Given the description of an element on the screen output the (x, y) to click on. 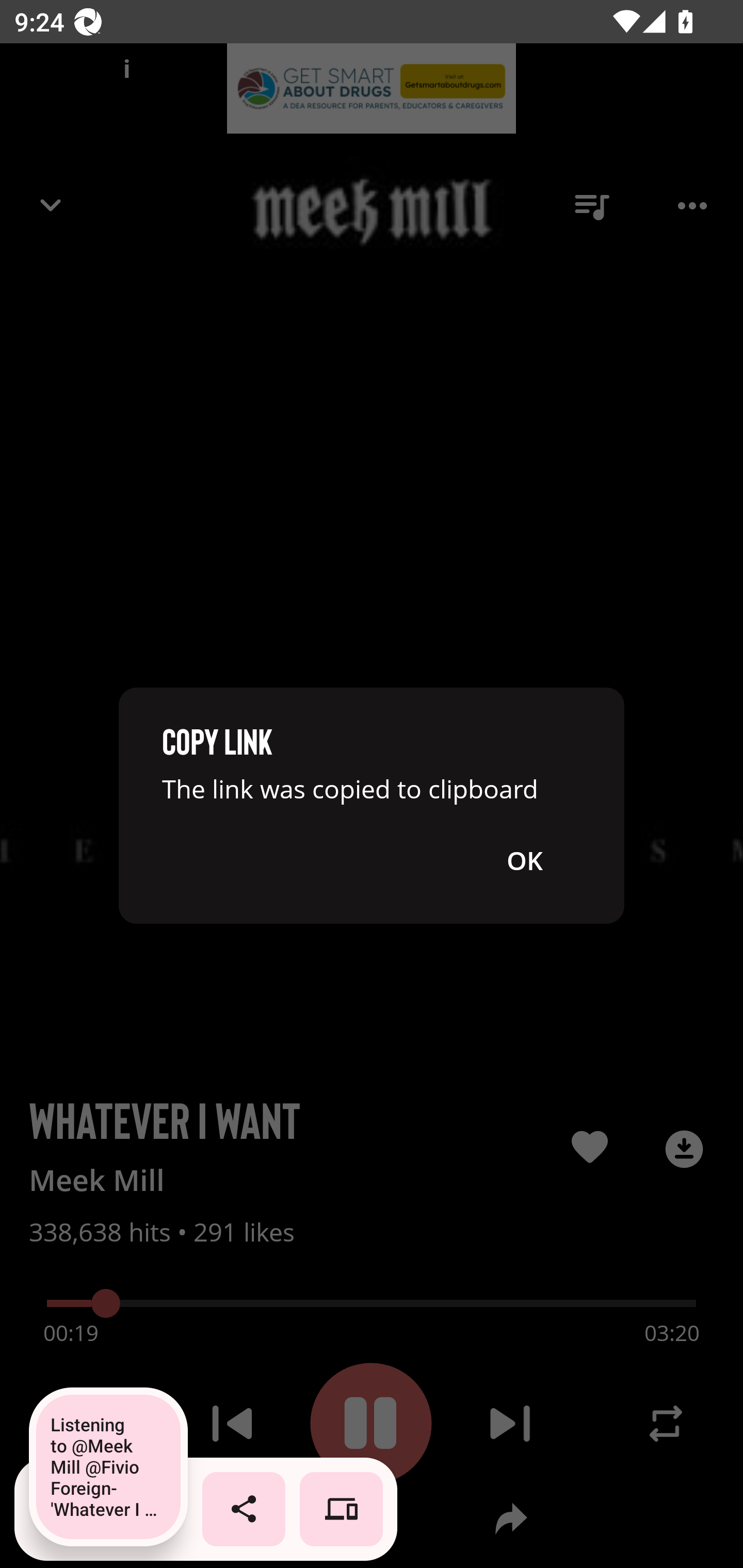
OK (524, 859)
